Given the description of an element on the screen output the (x, y) to click on. 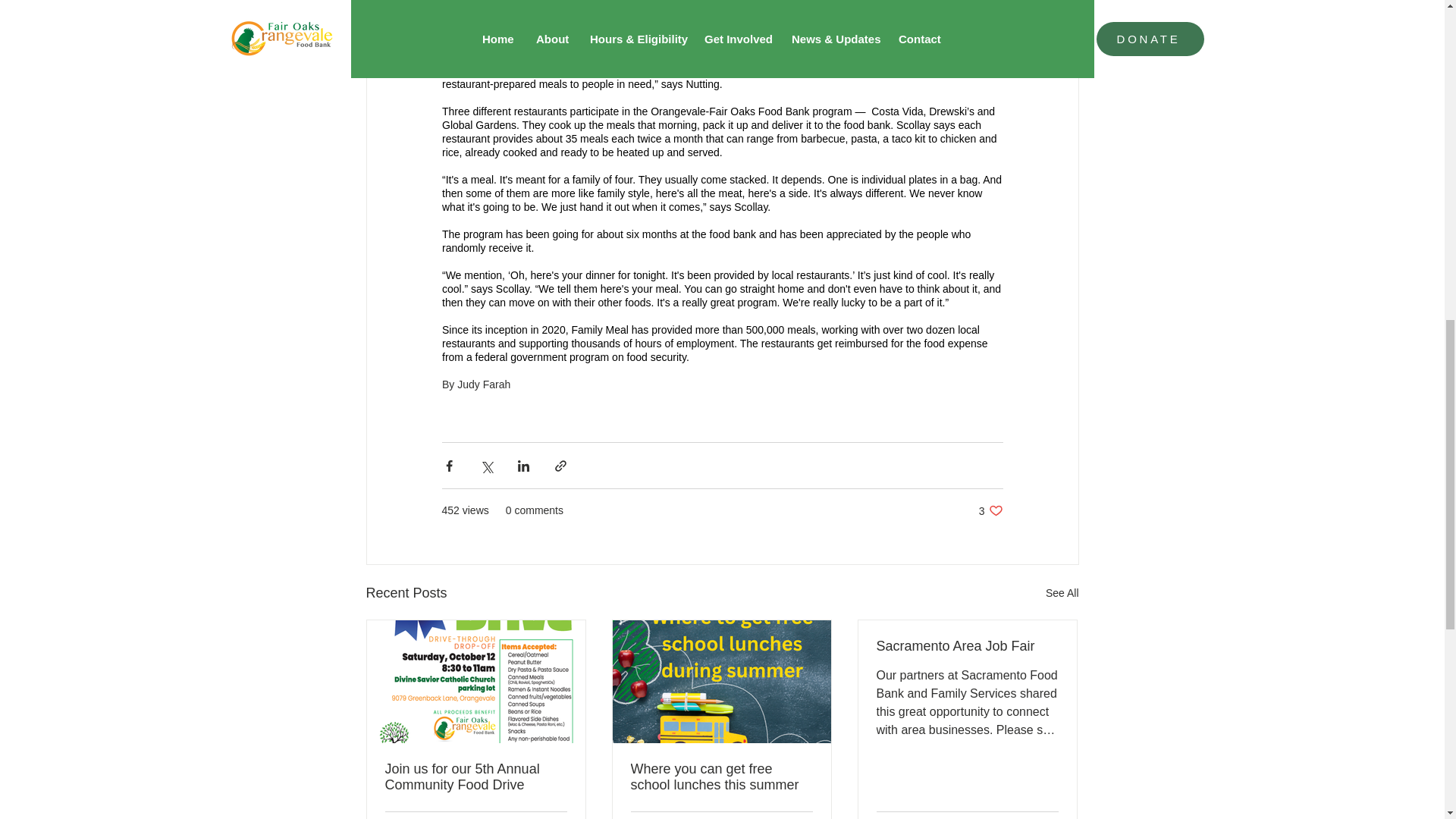
Sacramento Area Job Fair (967, 646)
Join us for our 5th Annual Community Food Drive (476, 777)
See All (1061, 593)
Where you can get free school lunches this summer (990, 510)
